Given the description of an element on the screen output the (x, y) to click on. 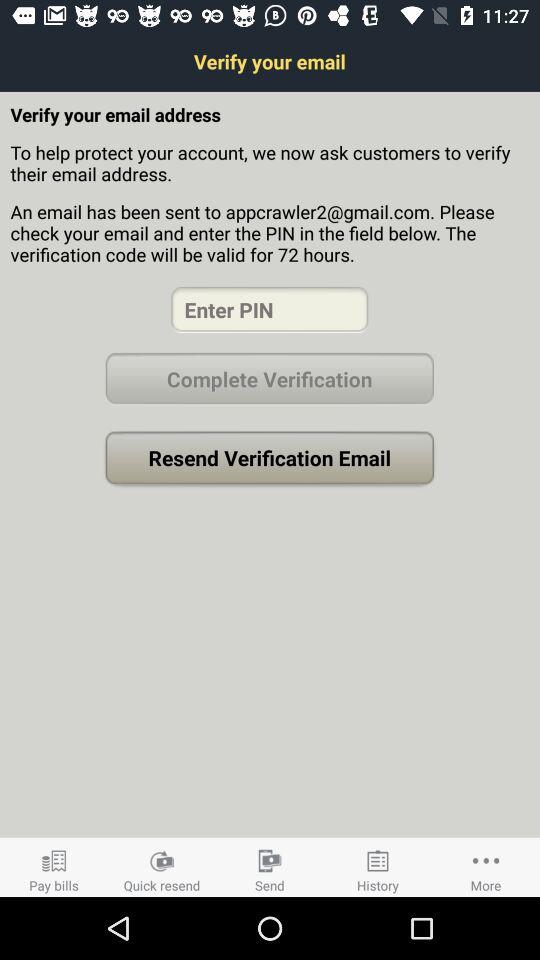
flip to complete verification button (269, 378)
